Given the description of an element on the screen output the (x, y) to click on. 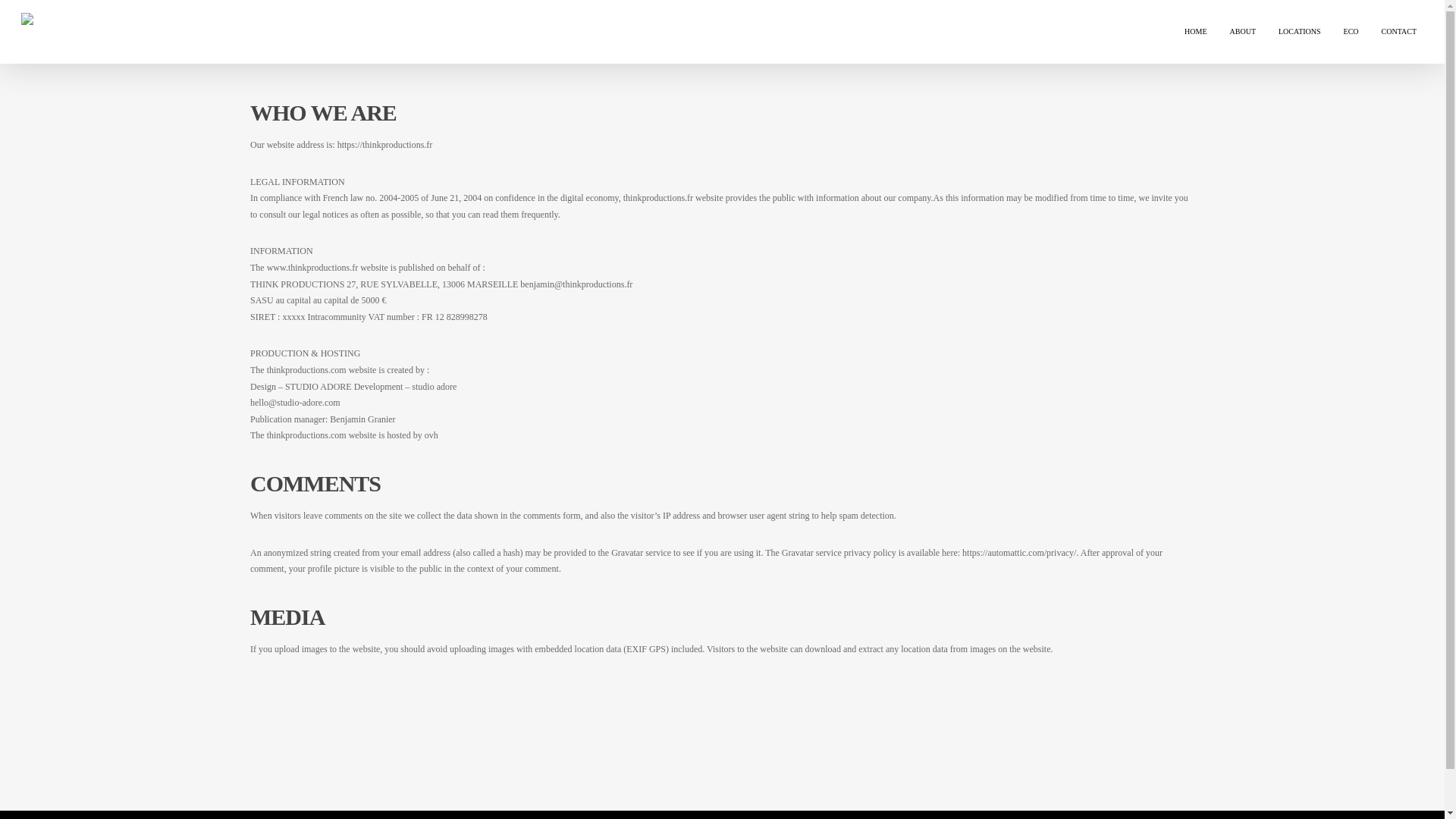
ABOUT (1242, 31)
Privacy Policy (417, 795)
ECO (1350, 31)
LOCATIONS (1299, 31)
CONTACT (1398, 31)
Studio Adore (516, 795)
HOME (1196, 31)
